Given the description of an element on the screen output the (x, y) to click on. 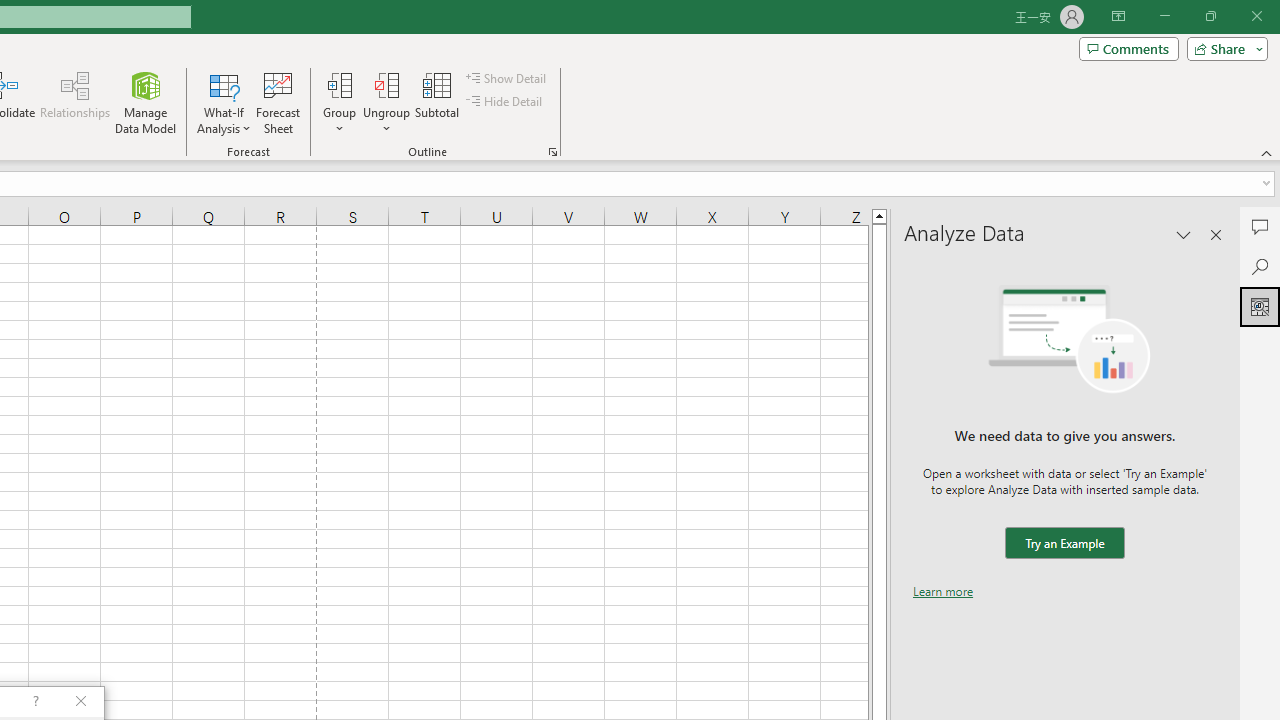
Forecast Sheet (278, 102)
Subtotal (437, 102)
Manage Data Model (145, 102)
Analyze Data (1260, 306)
We need data to give you answers. Try an Example (1064, 543)
What-If Analysis (223, 102)
Show Detail (507, 78)
